Given the description of an element on the screen output the (x, y) to click on. 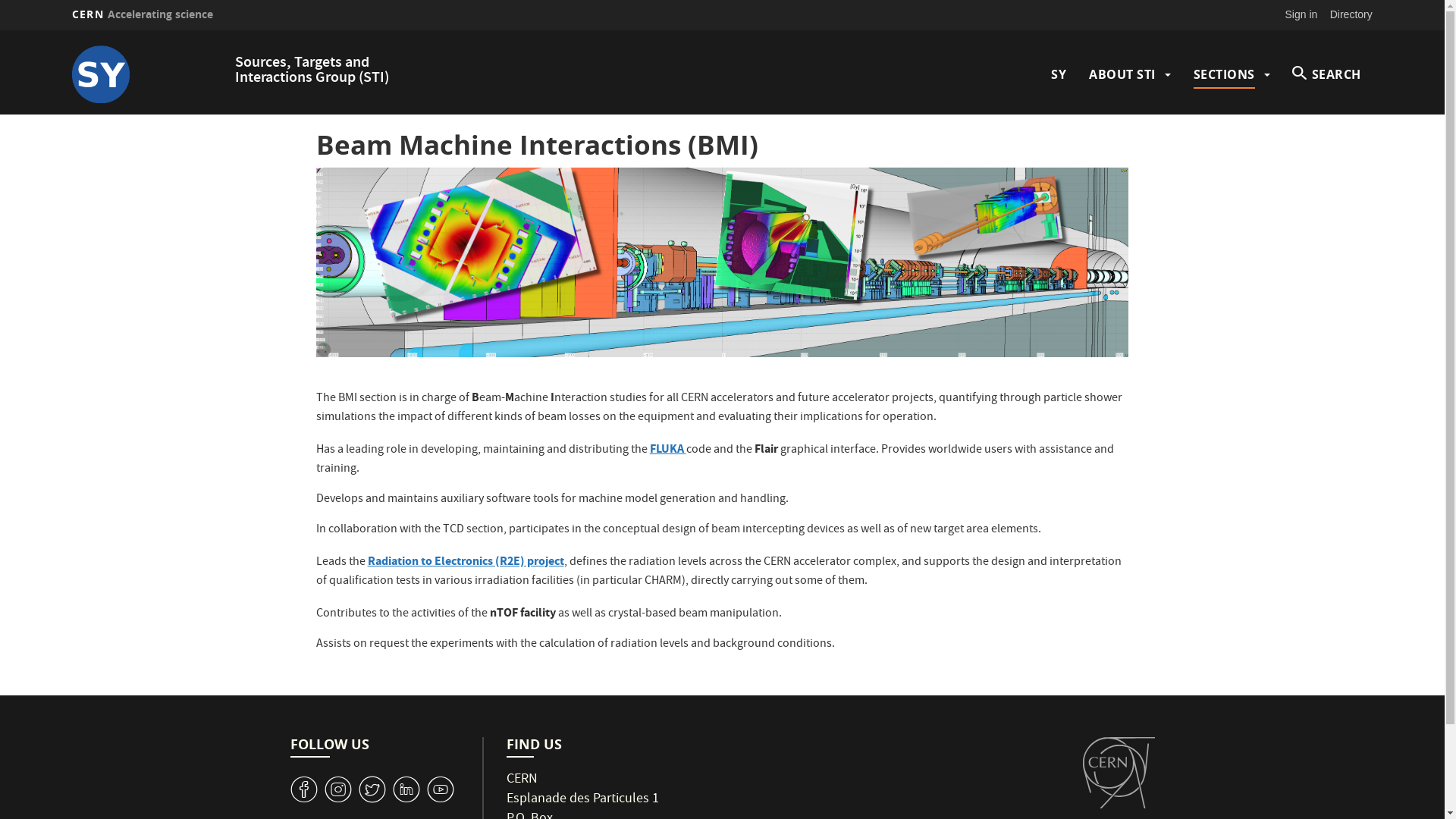
FLUKA Element type: text (667, 450)
CERN Element type: hover (1118, 772)
Radiation to Electronics (R2E) project Element type: text (465, 562)
Directory Element type: text (1351, 14)
SECTIONS Element type: text (1224, 74)
J Element type: text (337, 789)
v Element type: text (302, 789)
1 Element type: text (439, 789)
W Element type: text (371, 789)
SY Element type: text (1058, 74)
M Element type: text (406, 789)
Sources, Targets and Interactions Group (STI) Element type: text (312, 70)
ABOUT STI Element type: text (1121, 74)
CERN Accelerating science Element type: text (142, 14)
SEARCH Element type: text (1326, 74)
Home Element type: hover (149, 74)
Sign in Element type: text (1301, 14)
Skip to main content Element type: text (0, 30)
